Given the description of an element on the screen output the (x, y) to click on. 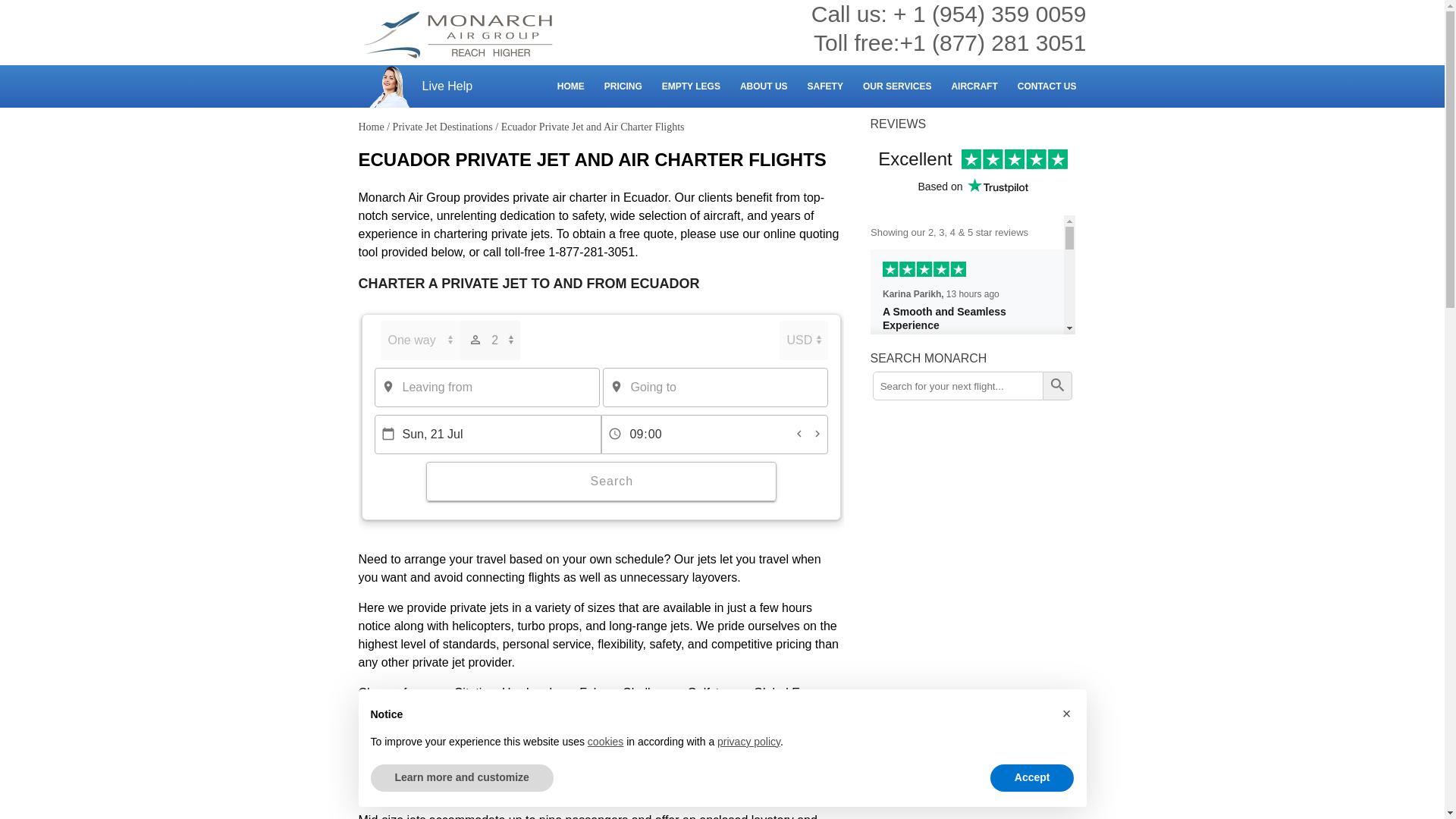
AIRCRAFT (973, 85)
HOME (570, 85)
Home (371, 126)
PRICING (623, 85)
Private Jet and Air Charter Operator - Monarch Air Group (458, 34)
Empty Legs Flights (690, 85)
Private Jet Charter Cost Estimator (623, 85)
Search (601, 481)
Private Jet and Air Charter Operator - Monarch Air Group (458, 34)
EMPTY LEGS (690, 85)
ABOUT US (764, 85)
SAFETY (825, 85)
Customer reviews powered by Trustpilot (972, 235)
OUR SERVICES (896, 85)
09:00 (713, 434)
